Given the description of an element on the screen output the (x, y) to click on. 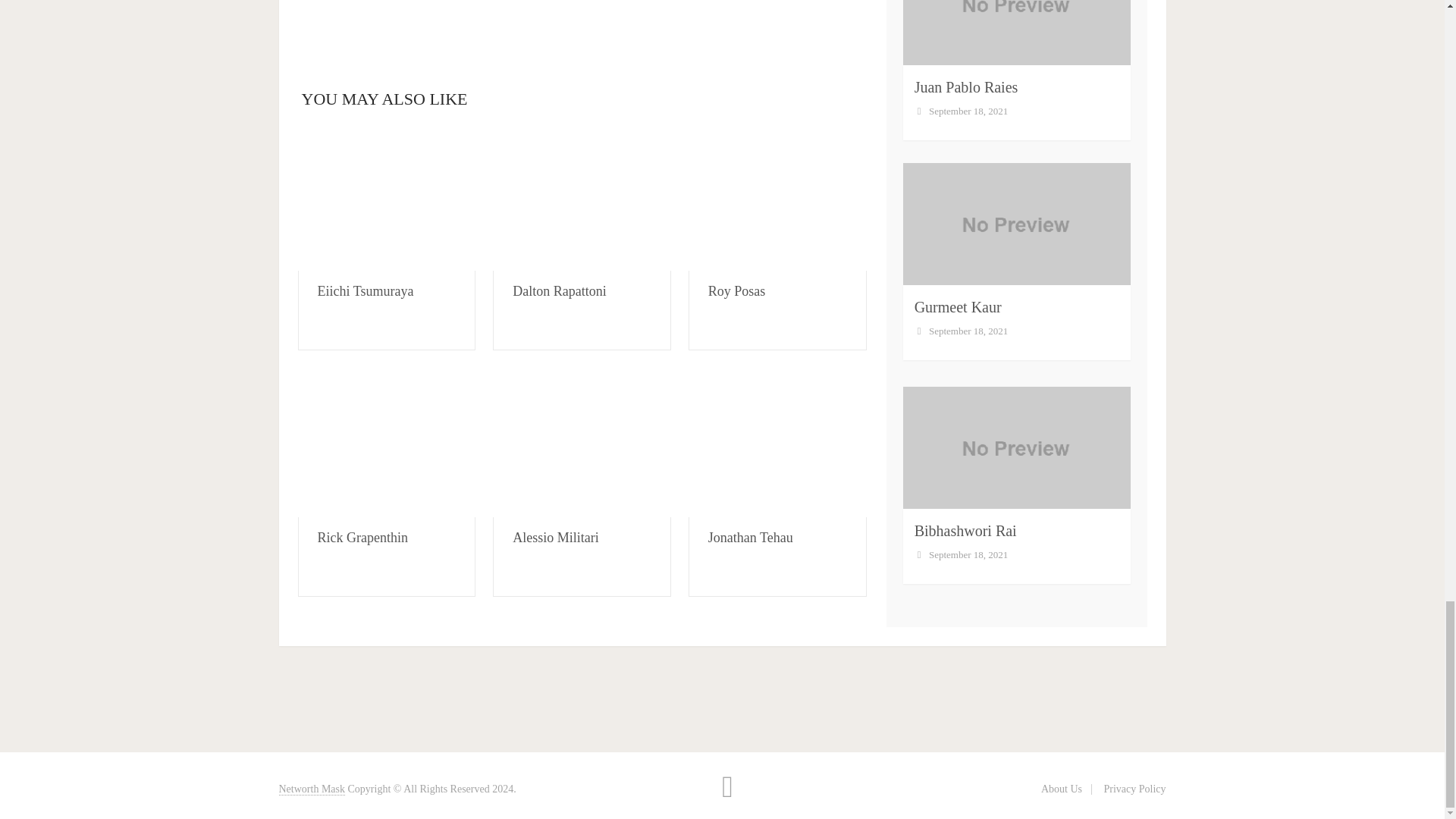
Jonathan Tehau (777, 444)
Dalton Rapattoni (582, 198)
Rick Grapenthin (362, 537)
Alessio Militari (582, 444)
Jonathan Tehau (750, 537)
Dalton Rapattoni (558, 290)
Networth Mask (312, 788)
Eiichi Tsumuraya (365, 290)
About Us (1061, 788)
Corona Tracker (581, 18)
Roy Posas (777, 198)
Roy Posas (736, 290)
Rick Grapenthin (386, 444)
Alessio Militari (555, 537)
Eiichi Tsumuraya (386, 198)
